Given the description of an element on the screen output the (x, y) to click on. 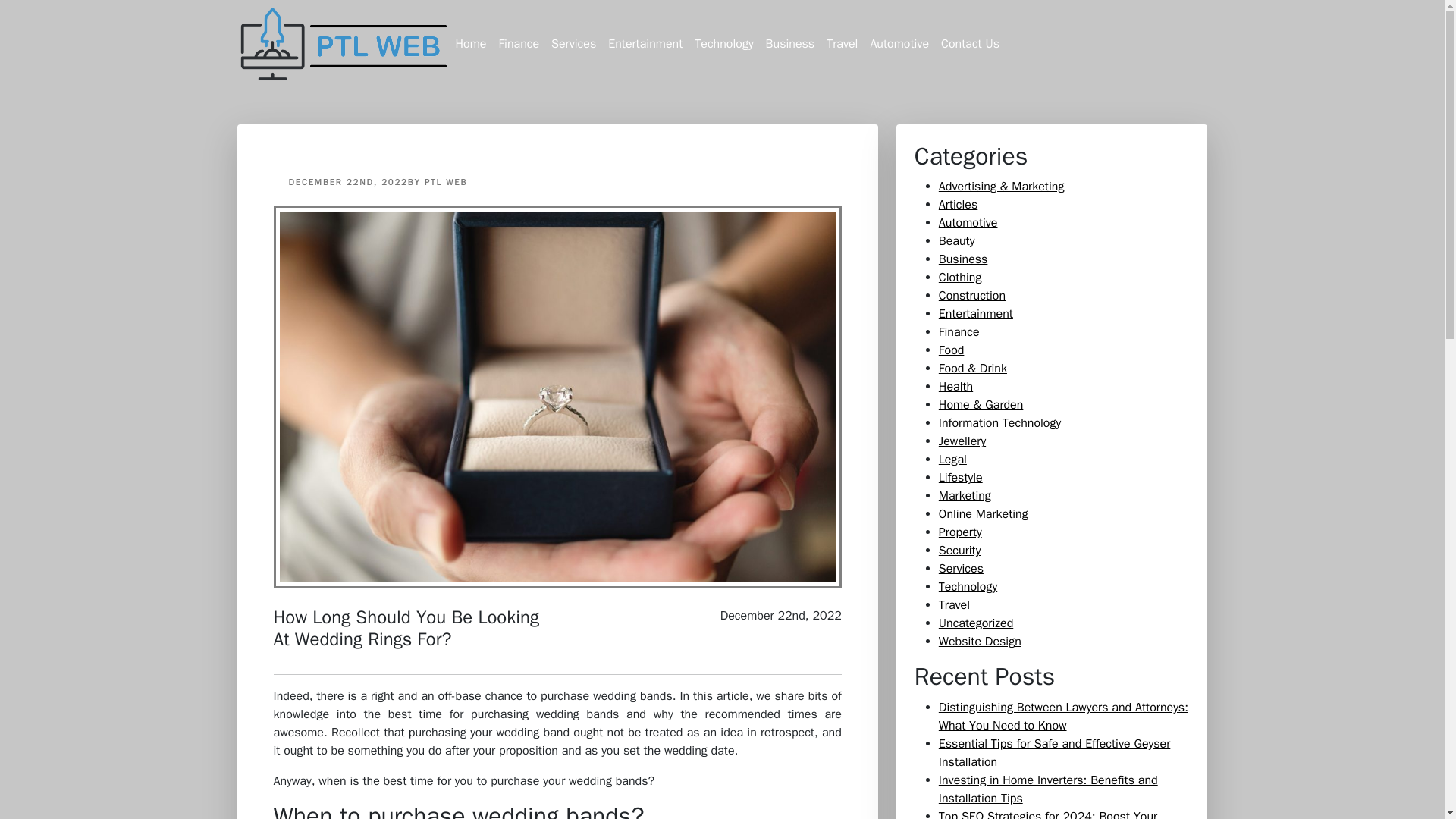
Contact Us (970, 43)
Business (963, 258)
Health (955, 386)
Travel (842, 43)
Entertainment (645, 43)
Food (951, 350)
Automotive (968, 222)
Services (573, 43)
Home (470, 43)
Entertainment (976, 313)
Lifestyle (960, 477)
Finance (518, 43)
Finance (959, 331)
Business (790, 43)
